Given the description of an element on the screen output the (x, y) to click on. 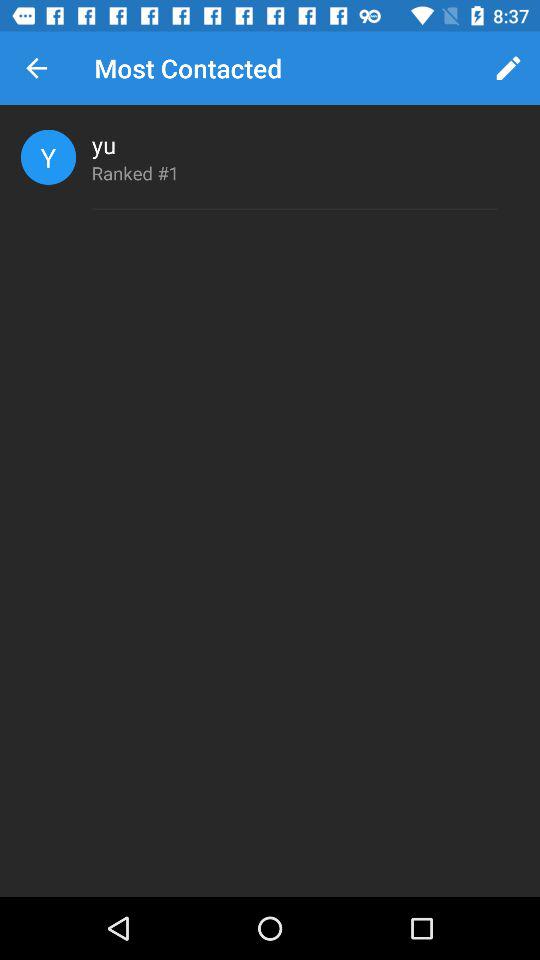
choose item above ranked #1 item (103, 144)
